Given the description of an element on the screen output the (x, y) to click on. 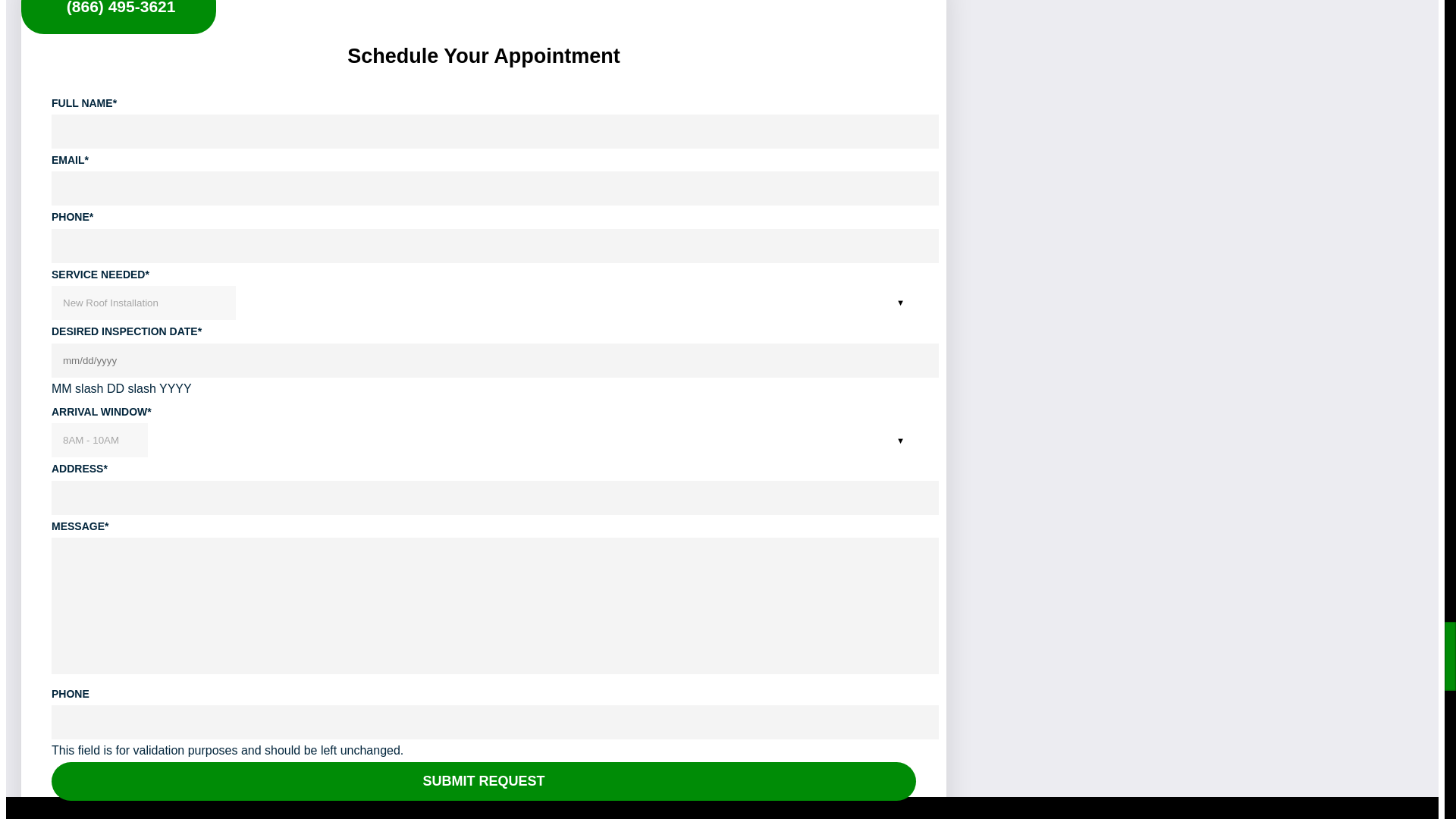
Submit Request (482, 781)
